Given the description of an element on the screen output the (x, y) to click on. 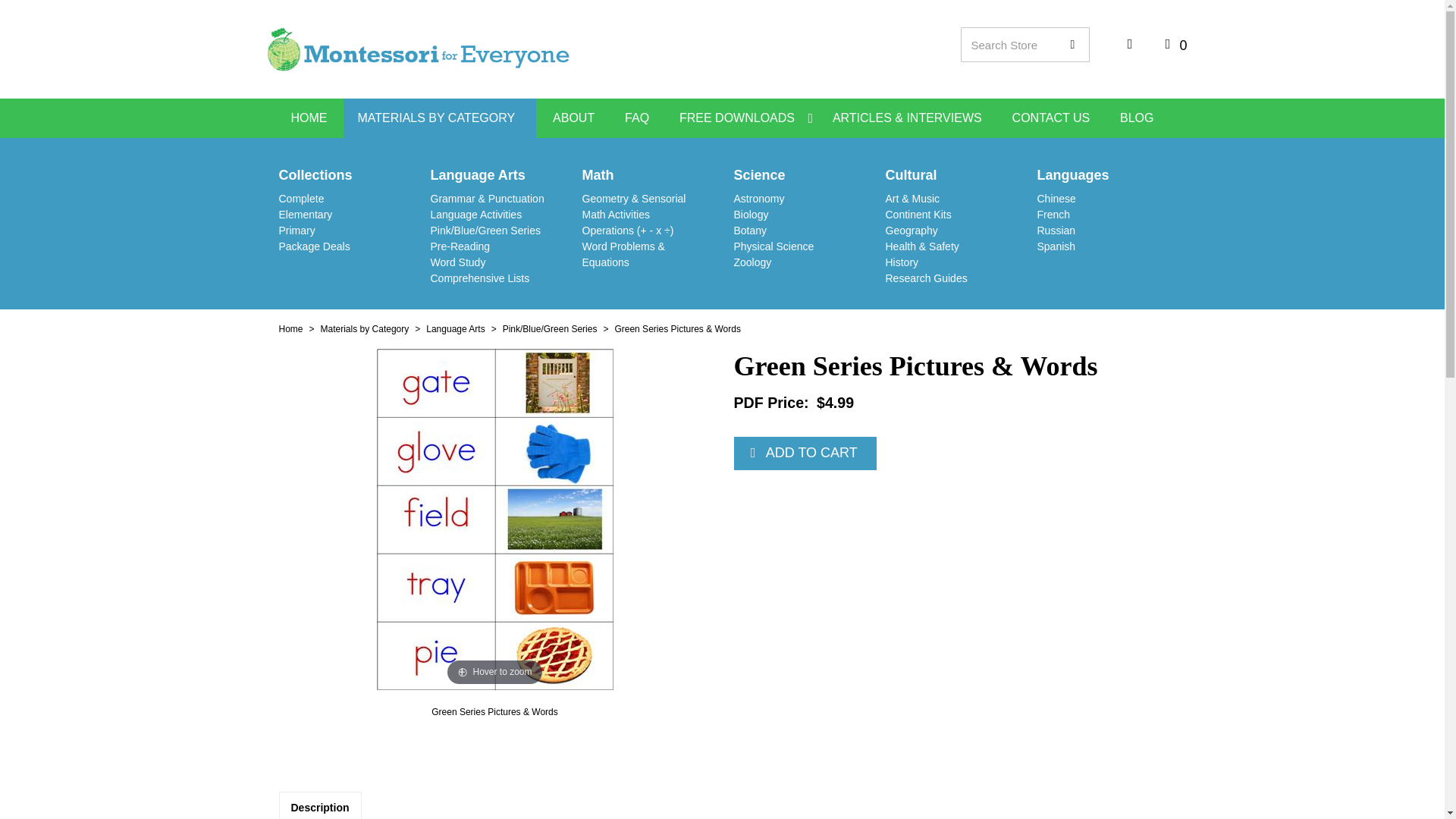
Elementary (306, 214)
Complete (301, 198)
FAQ (636, 118)
ABOUT (573, 118)
Math Activities (615, 214)
FREE DOWNLOADS (740, 118)
HOME (309, 118)
MATERIALS BY CATEGORY (439, 118)
BLOG (1136, 118)
Pre-Reading (460, 246)
